Given the description of an element on the screen output the (x, y) to click on. 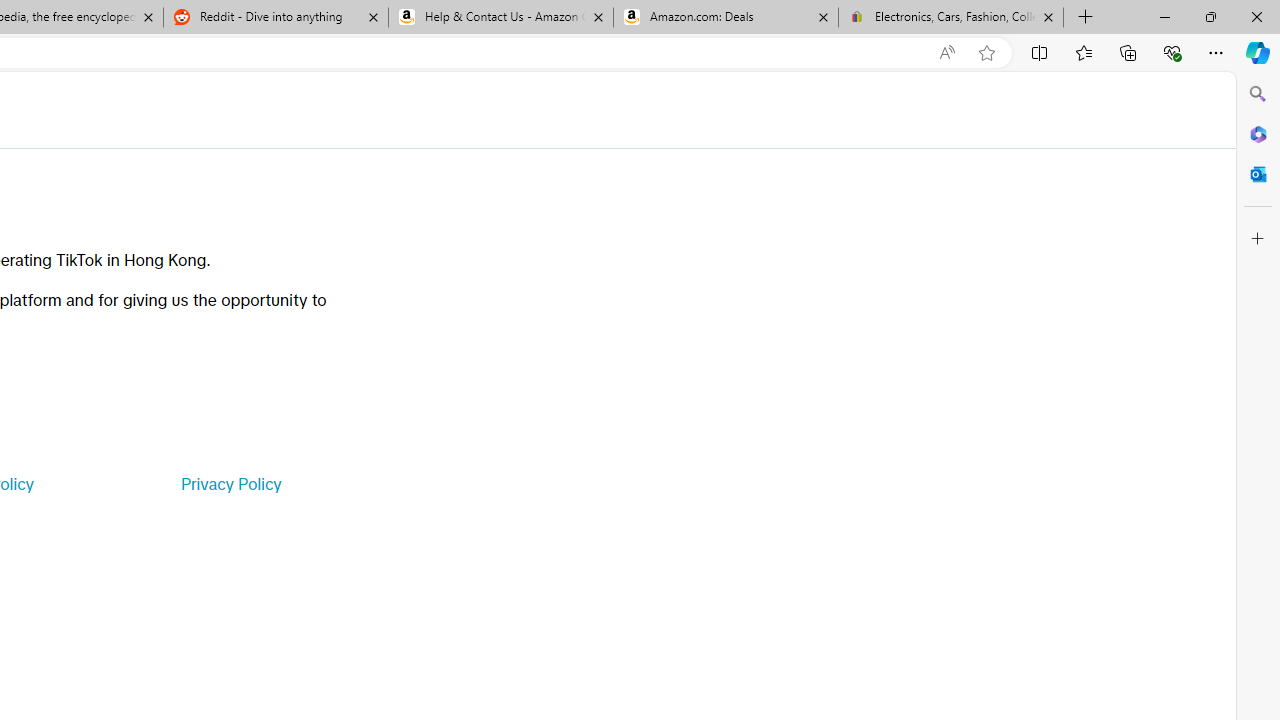
Amazon.com: Deals (726, 17)
